Given the description of an element on the screen output the (x, y) to click on. 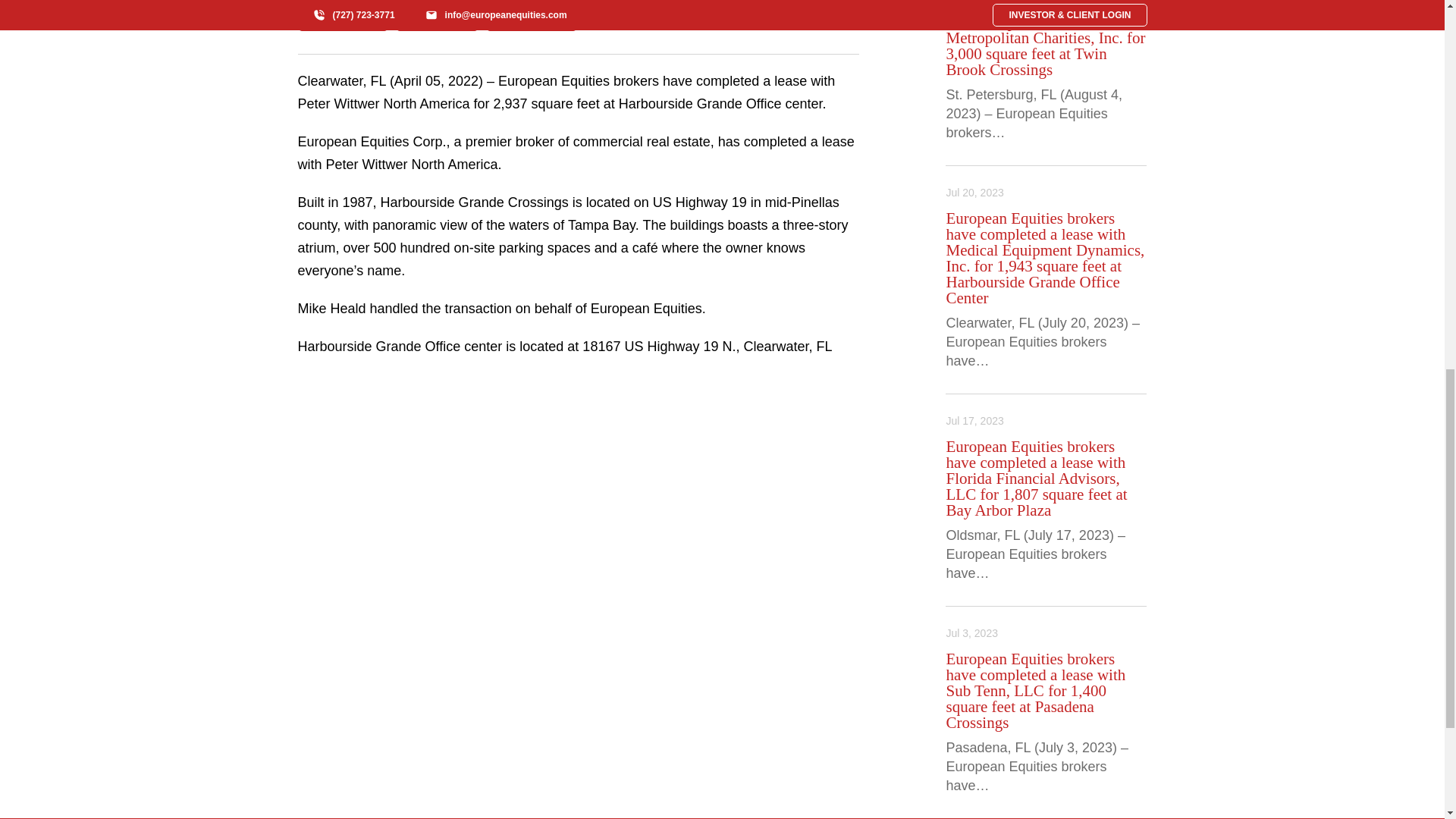
POST (437, 15)
SHARE (342, 15)
TWEET (531, 15)
